Given the description of an element on the screen output the (x, y) to click on. 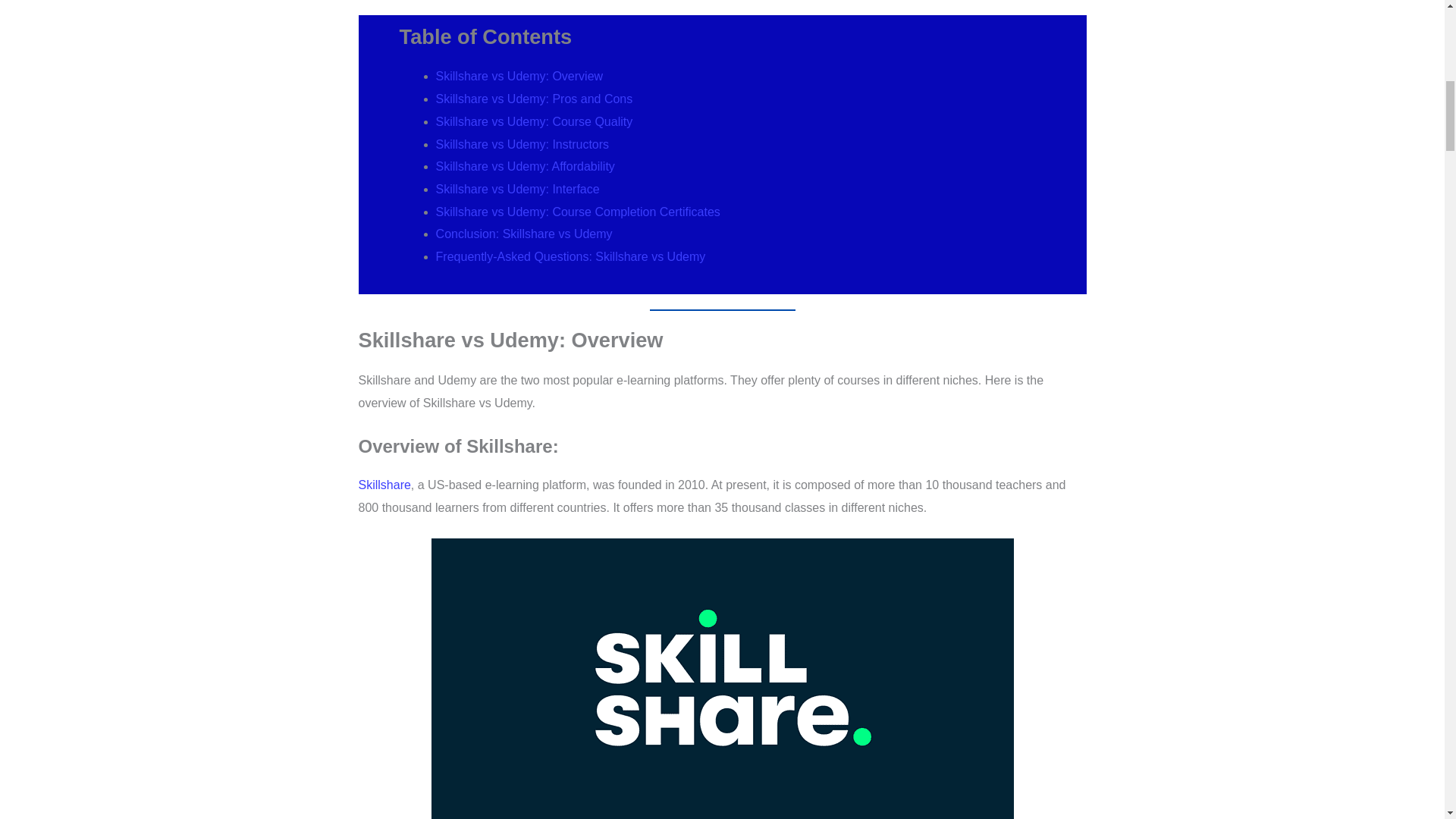
Skillshare vs Udemy: Overview (519, 75)
Skillshare vs Udemy: Affordability (524, 165)
Skillshare vs Udemy: Course Completion Certificates (577, 211)
Skillshare vs Udemy: Pros and Cons (534, 98)
Conclusion: Skillshare vs Udemy (523, 233)
Skillshare vs Udemy: Interface (517, 188)
Skillshare vs Udemy: Course Quality (534, 121)
Skillshare (384, 484)
Frequently-Asked Questions: Skillshare vs Udemy (570, 256)
Skillshare vs Udemy: Instructors (522, 144)
